Given the description of an element on the screen output the (x, y) to click on. 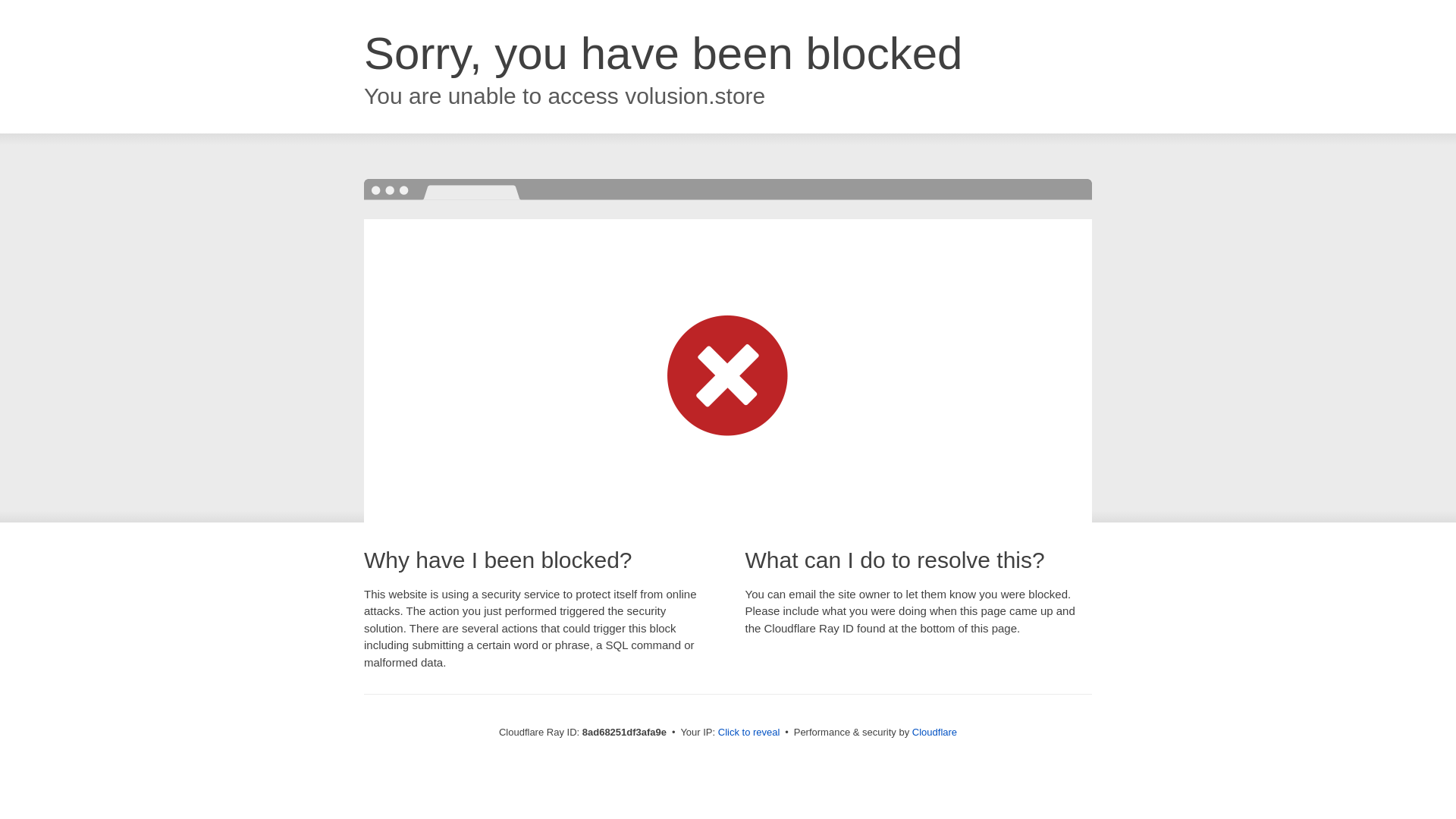
Click to reveal (748, 732)
Cloudflare (934, 731)
